Given the description of an element on the screen output the (x, y) to click on. 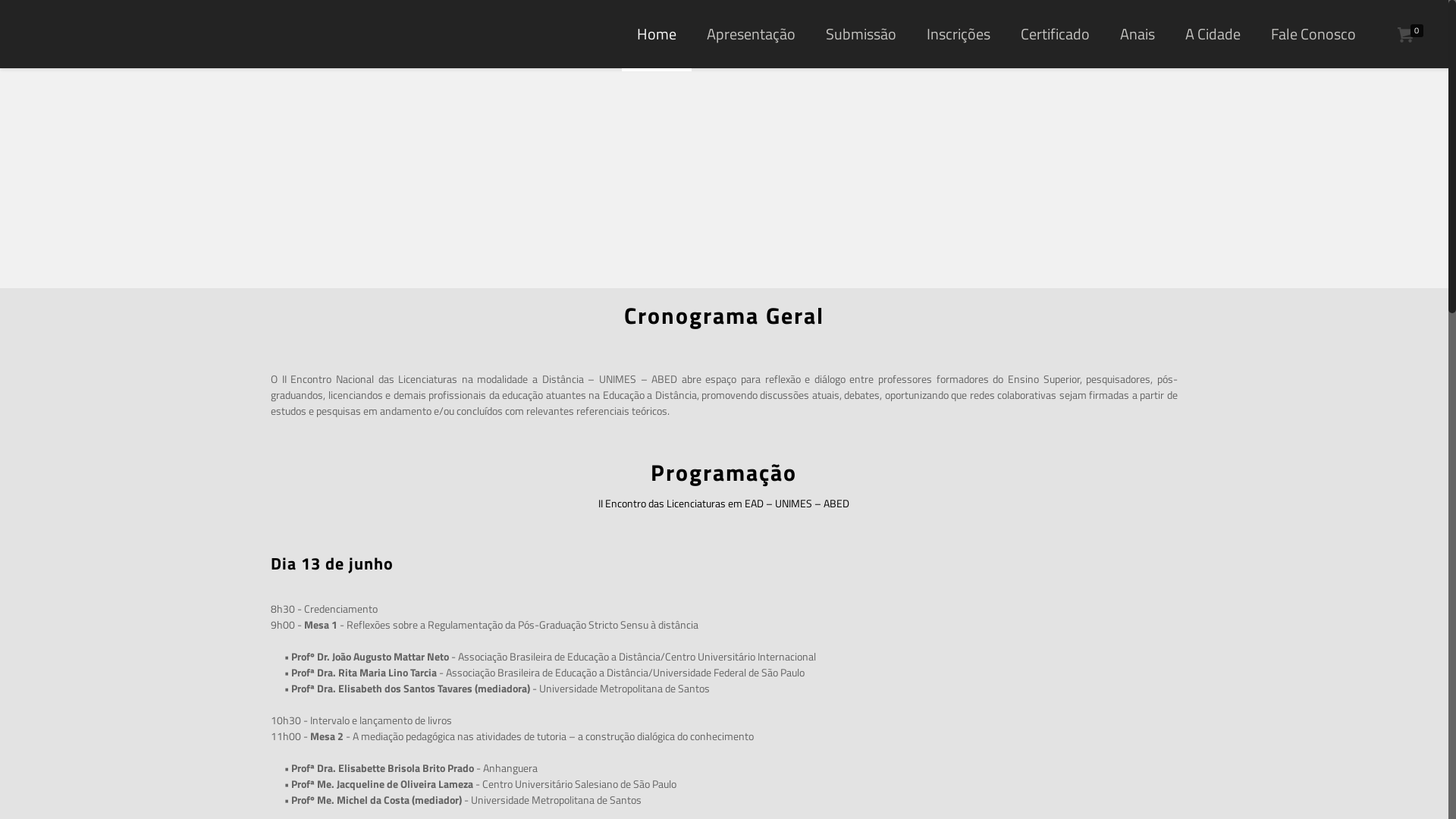
Certificado Element type: text (1054, 34)
Home Element type: text (656, 34)
A Cidade Element type: text (1212, 34)
Fale Conosco Element type: text (1313, 34)
Anais Element type: text (1137, 34)
0 Element type: text (1411, 35)
